Given the description of an element on the screen output the (x, y) to click on. 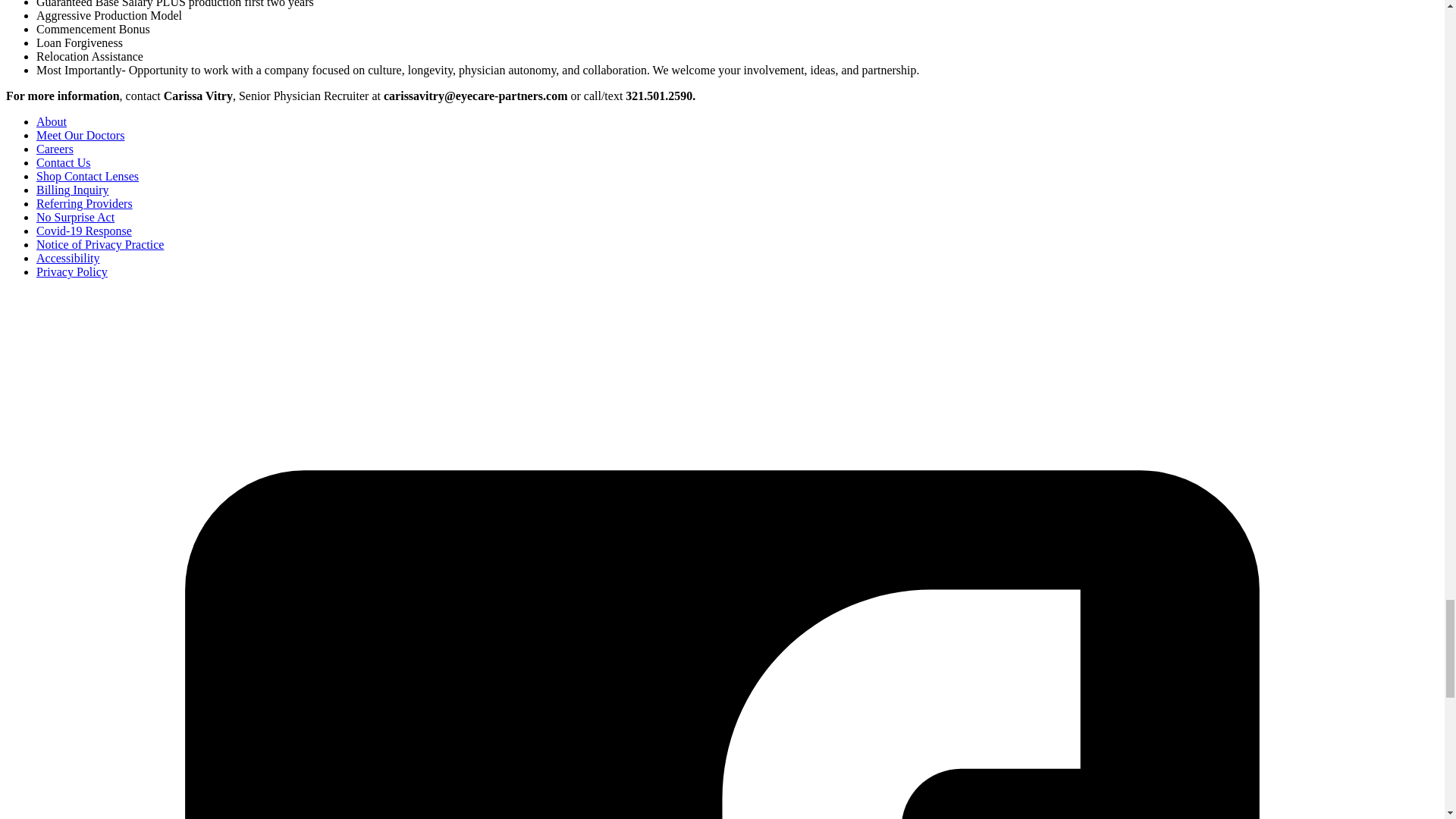
About (51, 121)
Billing Inquiry (72, 189)
Careers (55, 148)
Referring Providers (84, 203)
Privacy Policy (71, 271)
Accessibility (68, 257)
Shop Contact Lenses (87, 175)
Meet Our Doctors (79, 134)
Covid-19 Response (84, 230)
Notice of Privacy Practice (99, 244)
